Given the description of an element on the screen output the (x, y) to click on. 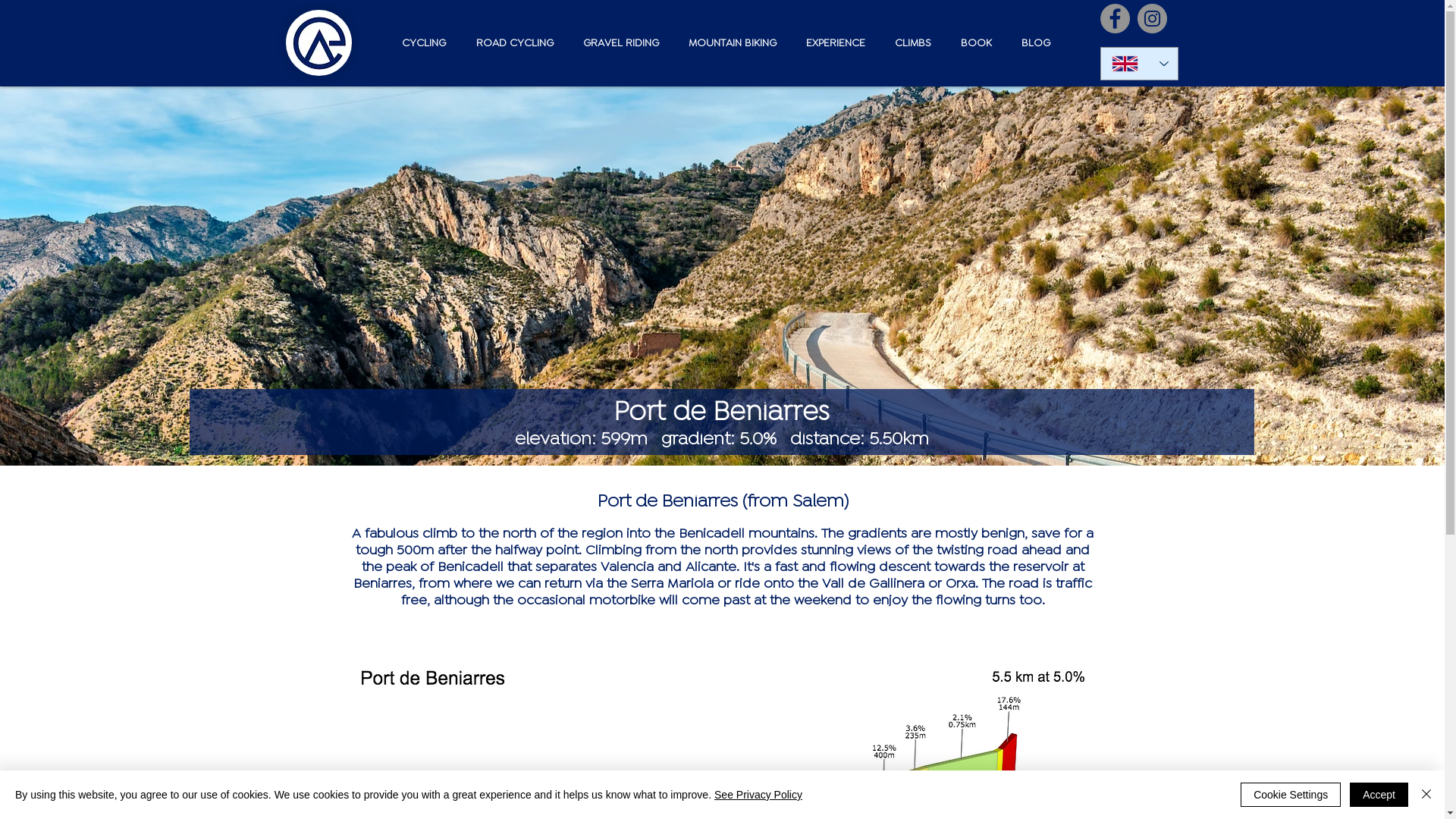
CLIMBS Element type: text (909, 43)
CYCLING Element type: text (419, 43)
Accept Element type: text (1378, 794)
EXPERIENCE Element type: text (831, 43)
See Privacy Policy Element type: text (758, 794)
MOUNTAIN BIKING Element type: text (728, 43)
Cookie Settings Element type: text (1290, 794)
BLOG Element type: text (1031, 43)
GRAVEL RIDING Element type: text (616, 43)
ROAD CYCLING Element type: text (510, 43)
BOOK Element type: text (971, 43)
